Given the description of an element on the screen output the (x, y) to click on. 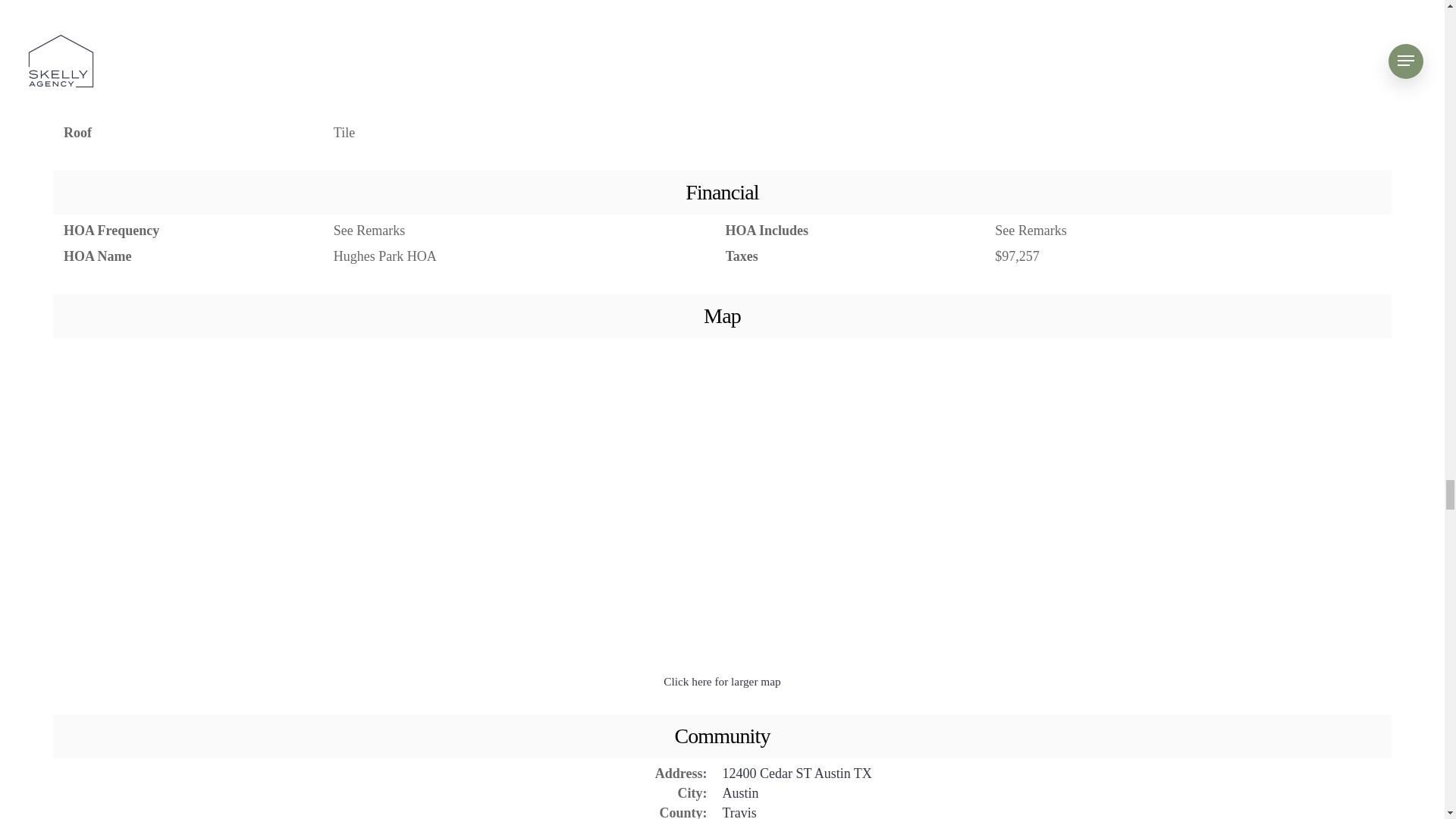
Travis (738, 812)
Click here for larger map (721, 680)
12400 Cedar ST Austin TX (796, 773)
Austin (740, 792)
